Given the description of an element on the screen output the (x, y) to click on. 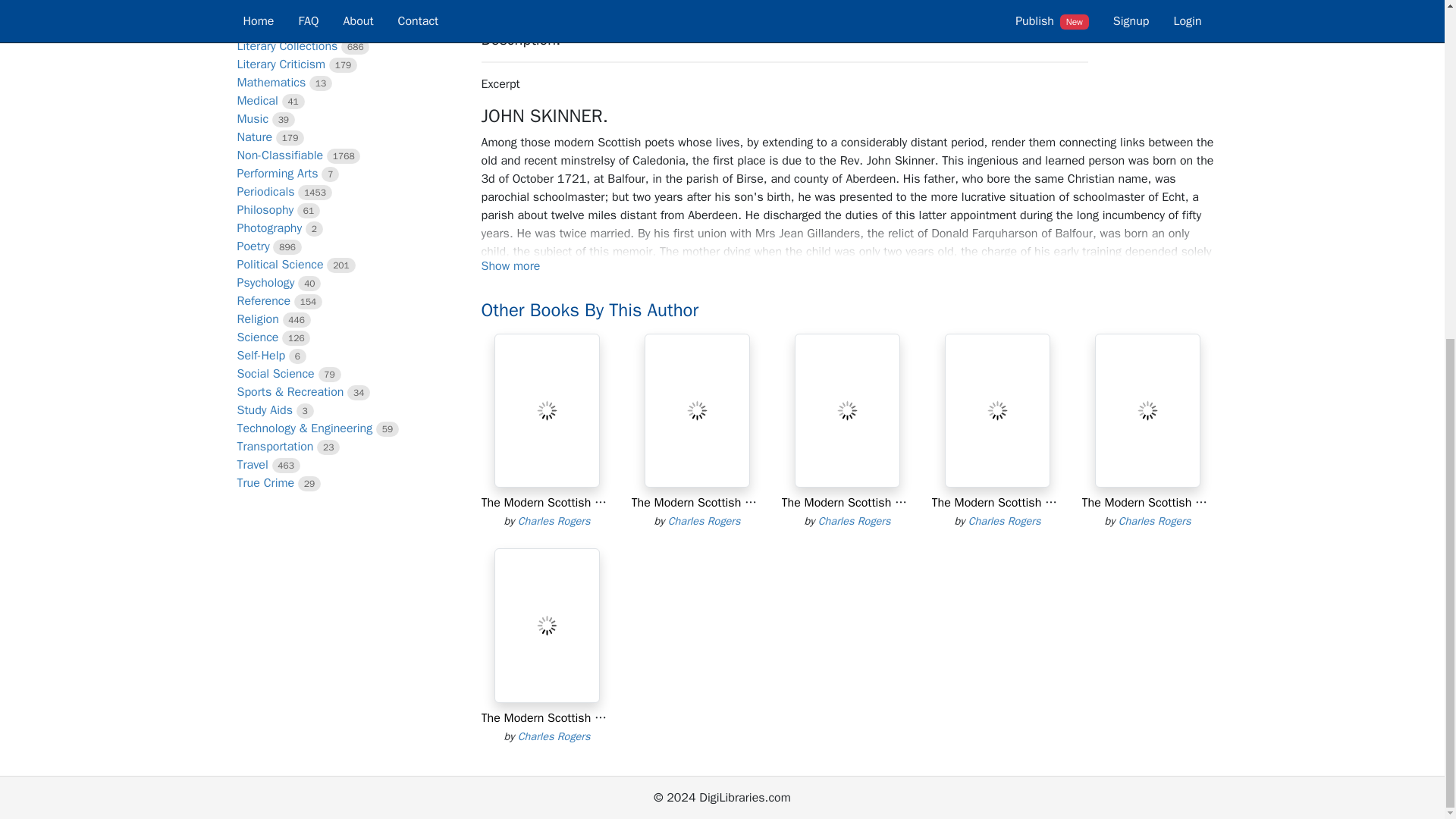
Law (246, 28)
Mathematics (270, 82)
Medical (256, 100)
Literary Criticism (279, 64)
Literary Collections (286, 46)
